Given the description of an element on the screen output the (x, y) to click on. 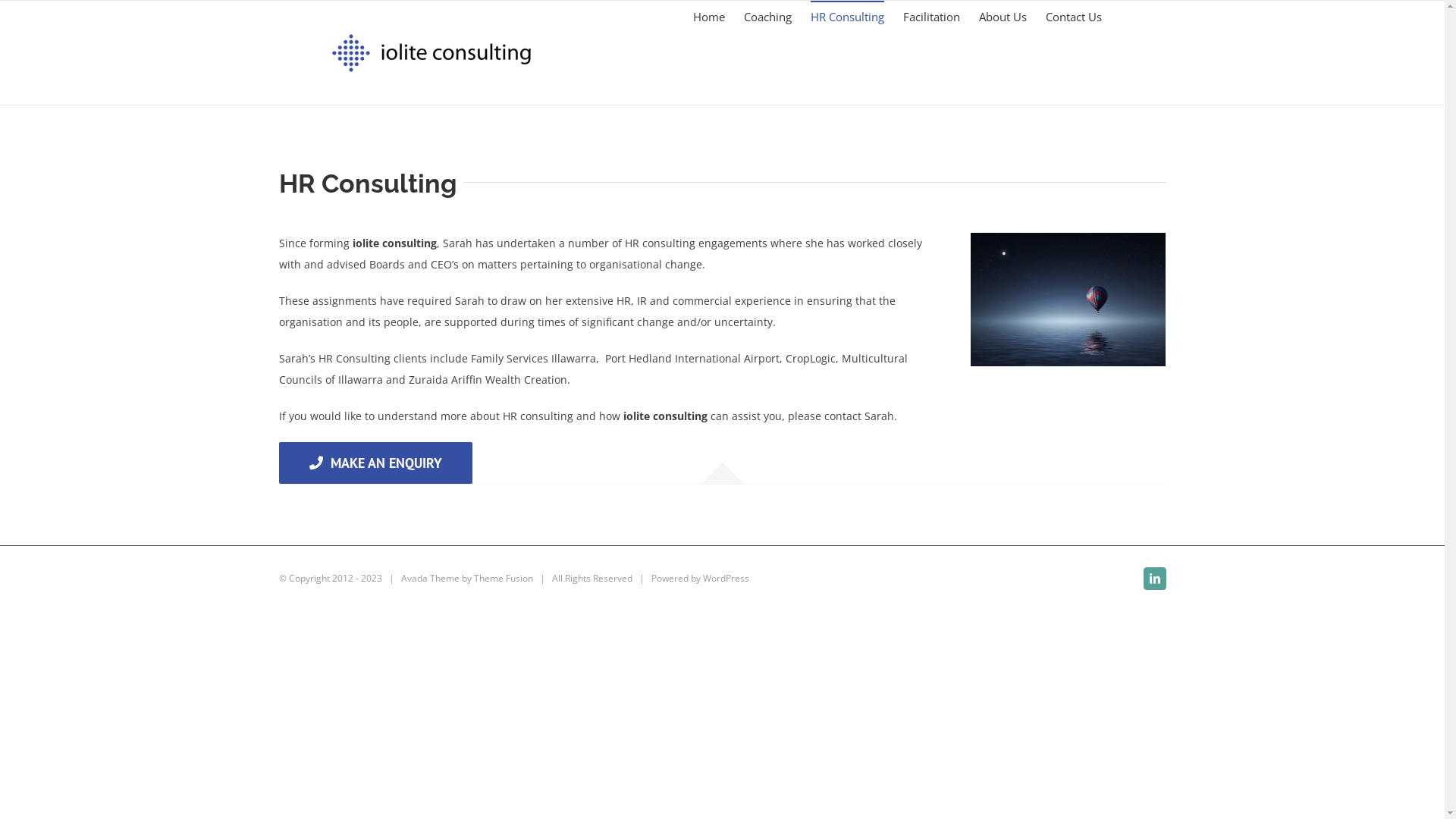
Home Element type: text (708, 15)
Contact Us Element type: text (1072, 15)
Theme Fusion Element type: text (502, 577)
WordPress Element type: text (725, 577)
About Us Element type: text (1002, 15)
LinkedIn Element type: text (1154, 578)
balloon Element type: hover (1067, 299)
HR Consulting Element type: text (846, 15)
Coaching Element type: text (766, 15)
Facilitation Element type: text (930, 15)
MAKE AN ENQUIRY Element type: text (375, 462)
